Given the description of an element on the screen output the (x, y) to click on. 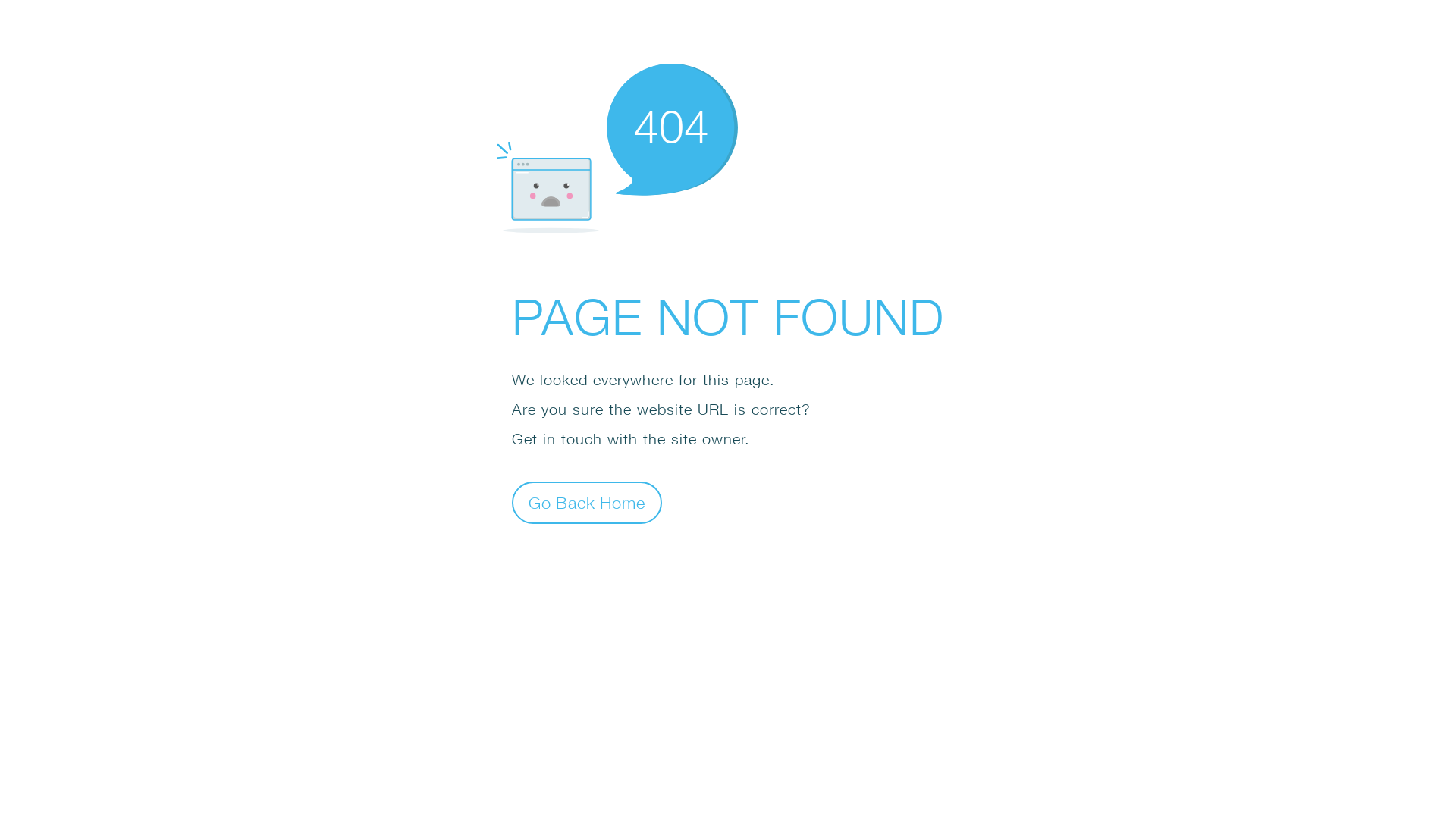
Go Back Home Element type: text (586, 502)
